Given the description of an element on the screen output the (x, y) to click on. 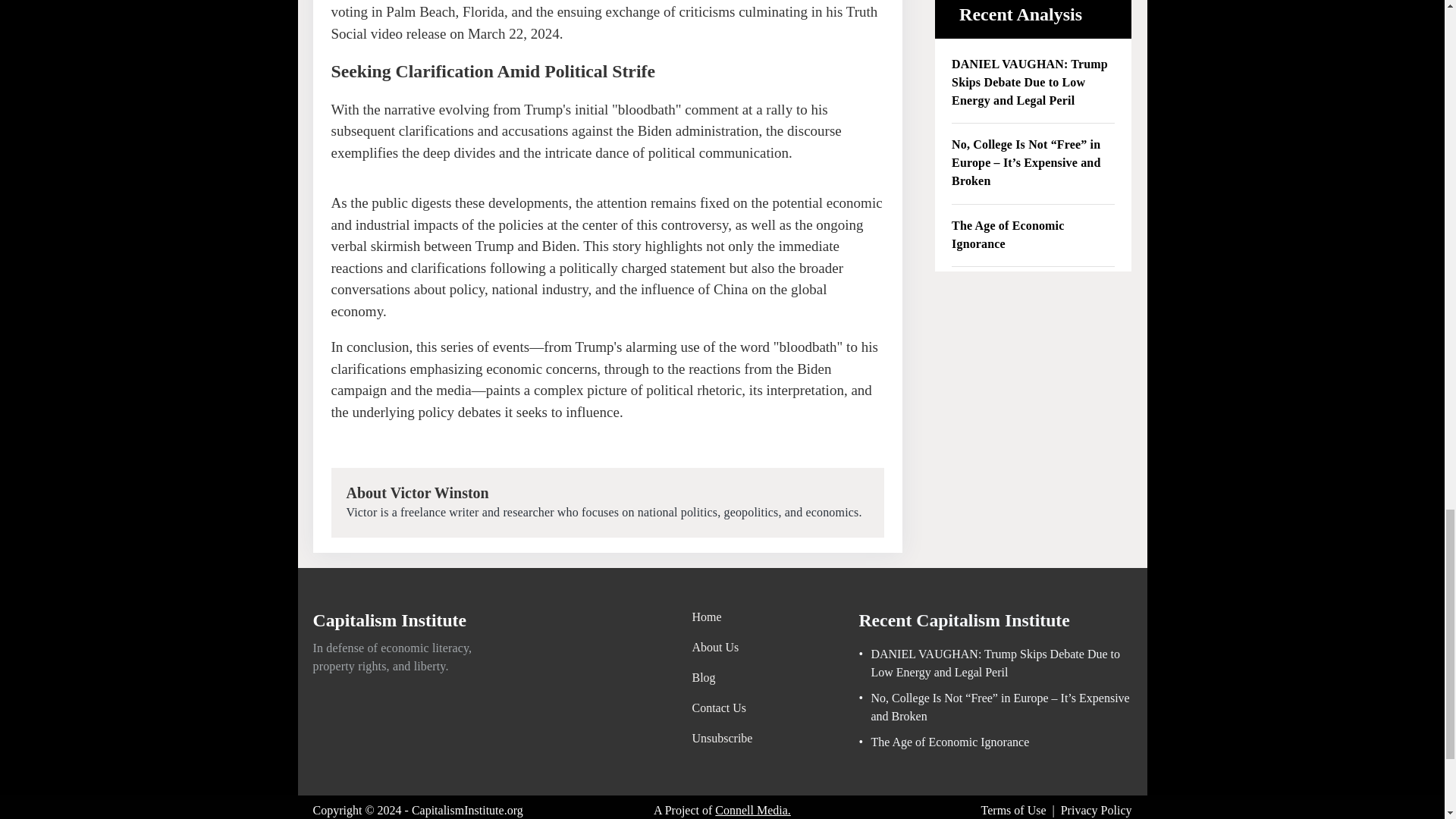
About Us (721, 647)
The Age of Economic Ignorance (1033, 235)
The Age of Economic Ignorance (944, 742)
Home (721, 617)
Blog (721, 678)
Capitalism Institute (390, 623)
Unsubscribe (721, 738)
Connell Media. (752, 810)
